Given the description of an element on the screen output the (x, y) to click on. 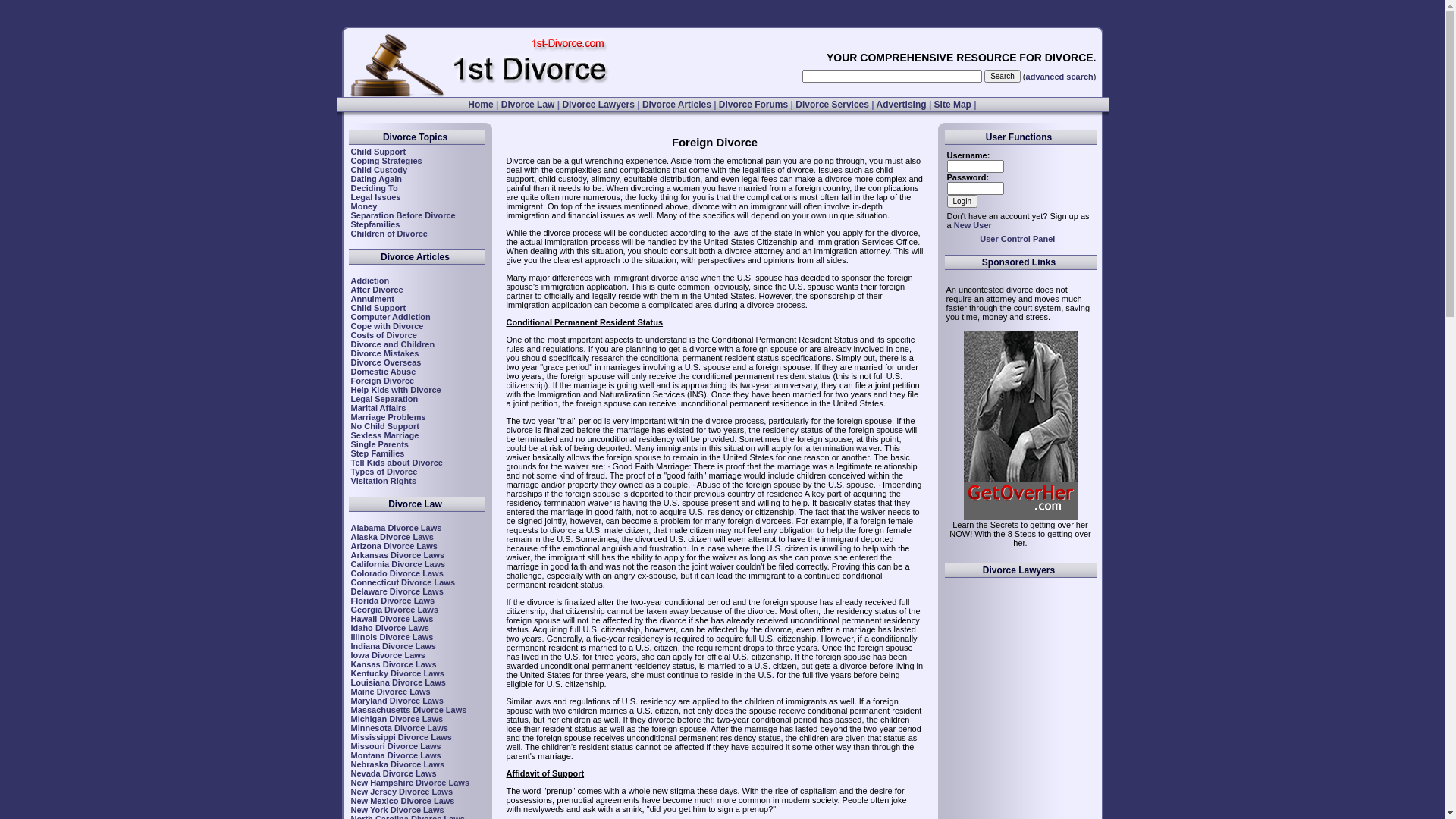
New Mexico Divorce Laws Element type: text (402, 800)
Advertising Element type: text (901, 104)
No Child Support Element type: text (384, 425)
Stepfamilies Element type: text (374, 224)
California Divorce Laws Element type: text (397, 563)
Colorado Divorce Laws Element type: text (396, 572)
Legal Issues Element type: text (375, 196)
New User Element type: text (972, 224)
Connecticut Divorce Laws Element type: text (402, 581)
Missouri Divorce Laws Element type: text (395, 745)
Domestic Abuse Element type: text (382, 371)
Legal Separation Element type: text (383, 398)
Cope with Divorce Element type: text (386, 325)
Single Parents Element type: text (378, 443)
Divorce Law Element type: text (528, 104)
Maryland Divorce Laws Element type: text (396, 700)
Login Element type: text (961, 200)
Search Element type: text (1002, 75)
Louisiana Divorce Laws Element type: text (397, 682)
Help Kids with Divorce Element type: text (395, 389)
Mississippi Divorce Laws Element type: text (400, 736)
Divorce Articles Element type: text (676, 104)
Child Custody Element type: text (378, 169)
Step Families Element type: text (377, 453)
Arkansas Divorce Laws Element type: text (397, 554)
Nebraska Divorce Laws Element type: text (397, 763)
After Divorce Element type: text (376, 289)
Nevada Divorce Laws Element type: text (393, 773)
Addiction Element type: text (369, 280)
Foreign Divorce Element type: text (382, 380)
Visitation Rights Element type: text (383, 480)
Sexless Marriage Element type: text (384, 434)
Child Support Element type: text (377, 151)
Types of Divorce Element type: text (383, 471)
Child Support Element type: text (377, 307)
Site Map Element type: text (952, 104)
advanced search Element type: text (1059, 75)
New Jersey Divorce Laws Element type: text (401, 791)
Idaho Divorce Laws Element type: text (389, 627)
Alabama Divorce Laws Element type: text (395, 527)
Minnesota Divorce Laws Element type: text (398, 727)
Divorce Lawyers Element type: text (597, 104)
Divorce Overseas Element type: text (385, 362)
Hawaii Divorce Laws Element type: text (391, 618)
Divorce Forums Element type: text (752, 104)
Delaware Divorce Laws Element type: text (396, 591)
Children of Divorce Element type: text (388, 233)
Costs of Divorce Element type: text (383, 334)
Maine Divorce Laws Element type: text (389, 691)
Michigan Divorce Laws Element type: text (396, 718)
Kansas Divorce Laws Element type: text (393, 663)
Florida Divorce Laws Element type: text (392, 600)
Illinois Divorce Laws Element type: text (391, 636)
Coping Strategies Element type: text (385, 160)
Indiana Divorce Laws Element type: text (392, 645)
Separation Before Divorce Element type: text (402, 214)
Deciding To Element type: text (373, 187)
Computer Addiction Element type: text (389, 316)
Divorce Services Element type: text (832, 104)
Home Element type: text (479, 104)
Tell Kids about Divorce Element type: text (396, 462)
Money Element type: text (363, 205)
Massachusetts Divorce Laws Element type: text (408, 709)
Annulment Element type: text (371, 298)
New York Divorce Laws Element type: text (396, 809)
Dating Again Element type: text (375, 178)
New Hampshire Divorce Laws Element type: text (409, 782)
Iowa Divorce Laws Element type: text (387, 654)
Alaska Divorce Laws Element type: text (391, 536)
Marital Affairs Element type: text (377, 407)
Kentucky Divorce Laws Element type: text (397, 672)
Divorce Mistakes Element type: text (384, 352)
Montana Divorce Laws Element type: text (395, 754)
Marriage Problems Element type: text (387, 416)
Arizona Divorce Laws Element type: text (393, 545)
Divorce and Children Element type: text (392, 343)
Georgia Divorce Laws Element type: text (394, 609)
User Control Panel Element type: text (1016, 238)
